Given the description of an element on the screen output the (x, y) to click on. 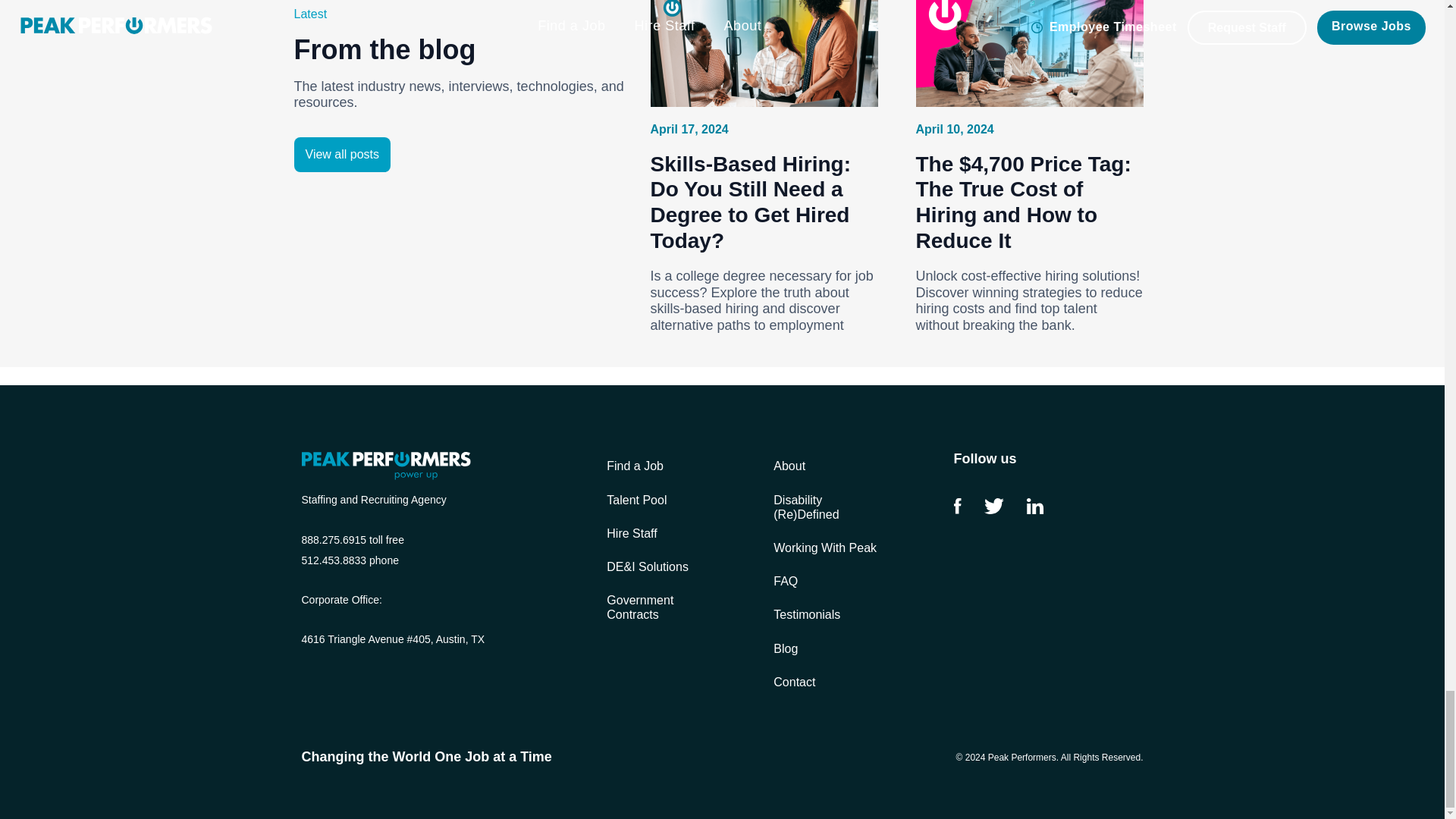
View all posts (342, 154)
April 10, 2024 (954, 129)
April 17, 2024 (689, 129)
888.275.6915 toll free (352, 539)
Fill 1 Created with Sketch. (994, 505)
